Given the description of an element on the screen output the (x, y) to click on. 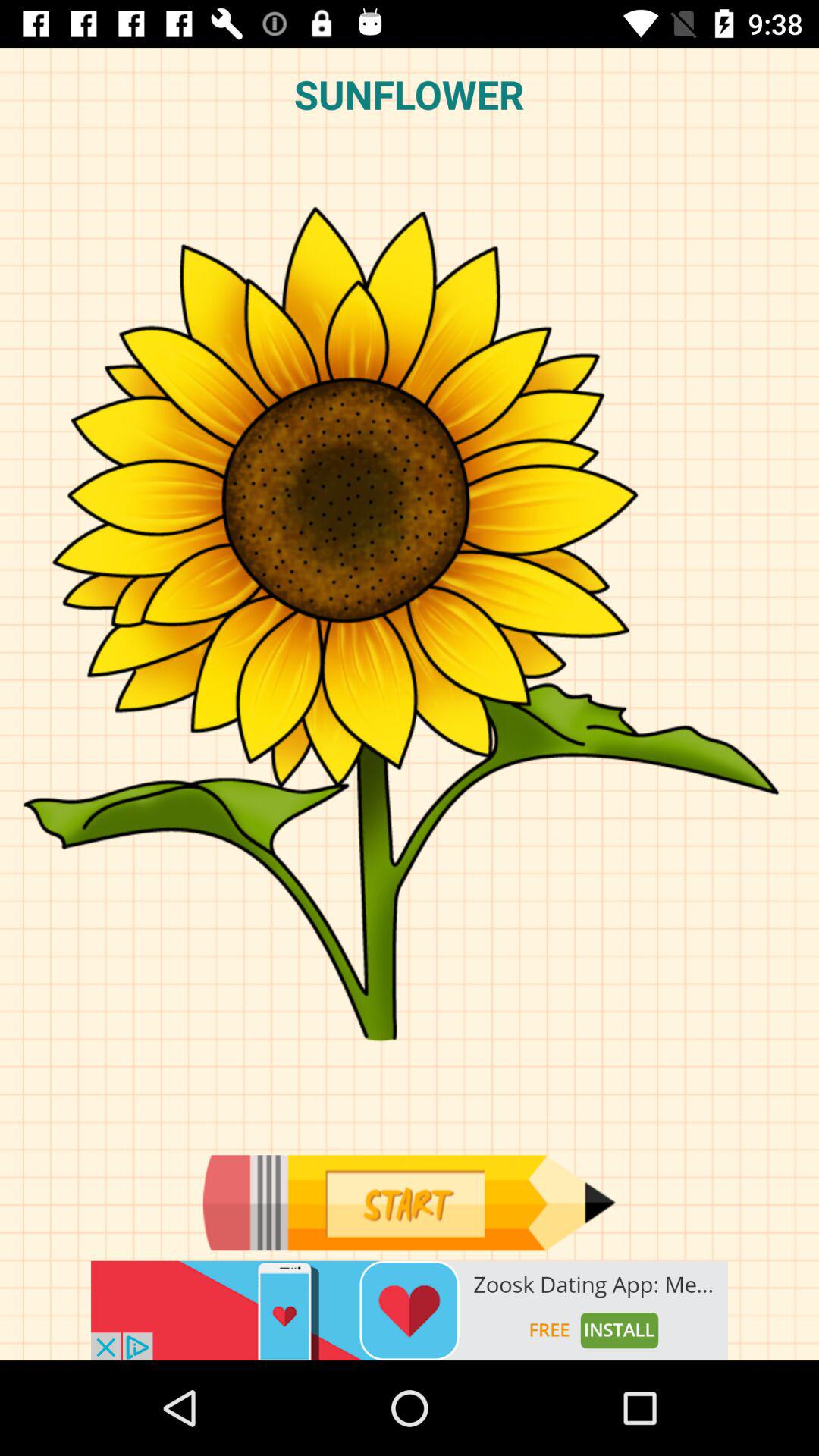
go to start (409, 1202)
